Given the description of an element on the screen output the (x, y) to click on. 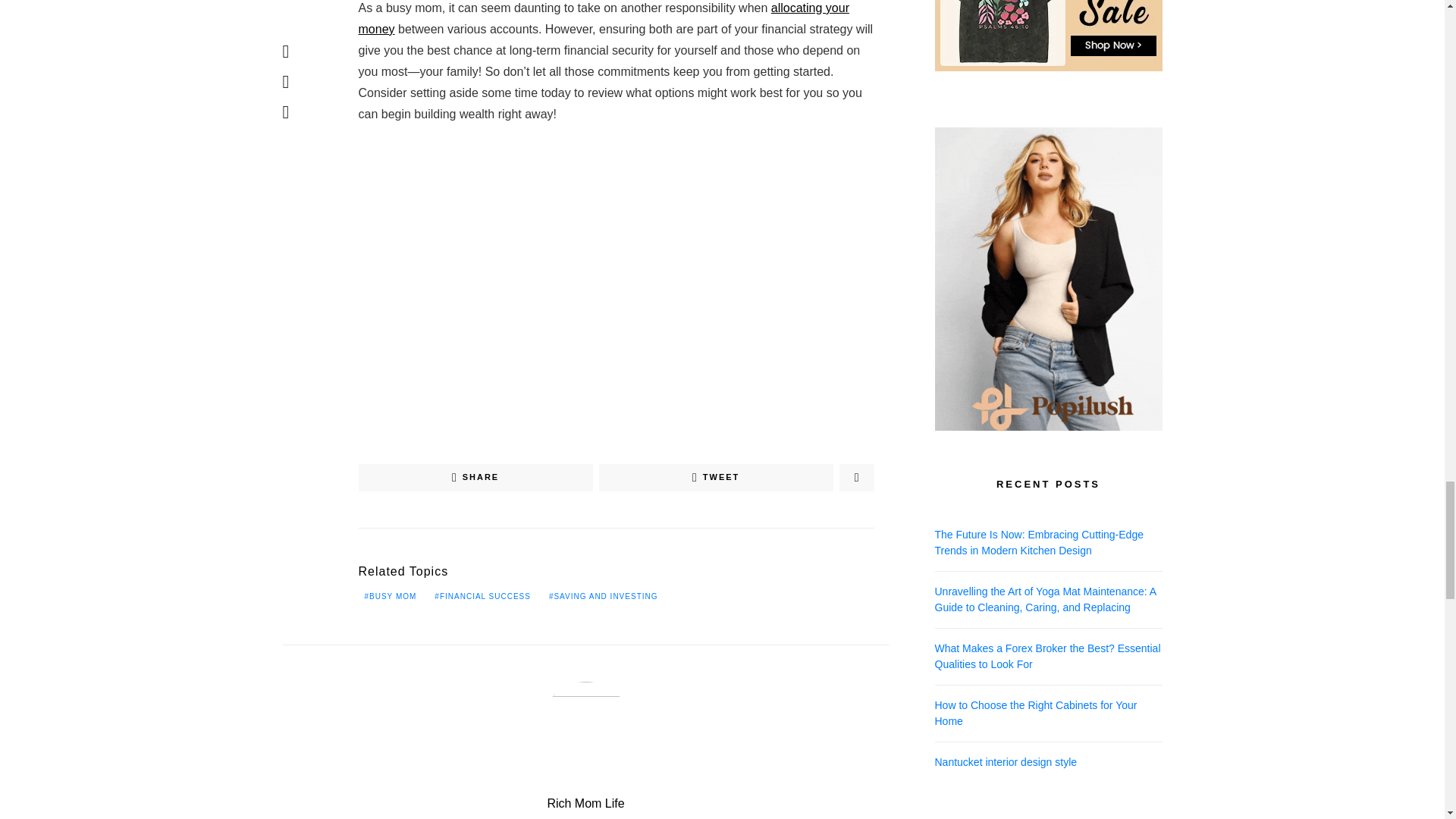
allocating your money (603, 18)
SHARE (475, 477)
SAVING AND INVESTING (603, 595)
FINANCIAL SUCCESS (482, 595)
BUSY MOM (390, 595)
TWEET (715, 477)
